Given the description of an element on the screen output the (x, y) to click on. 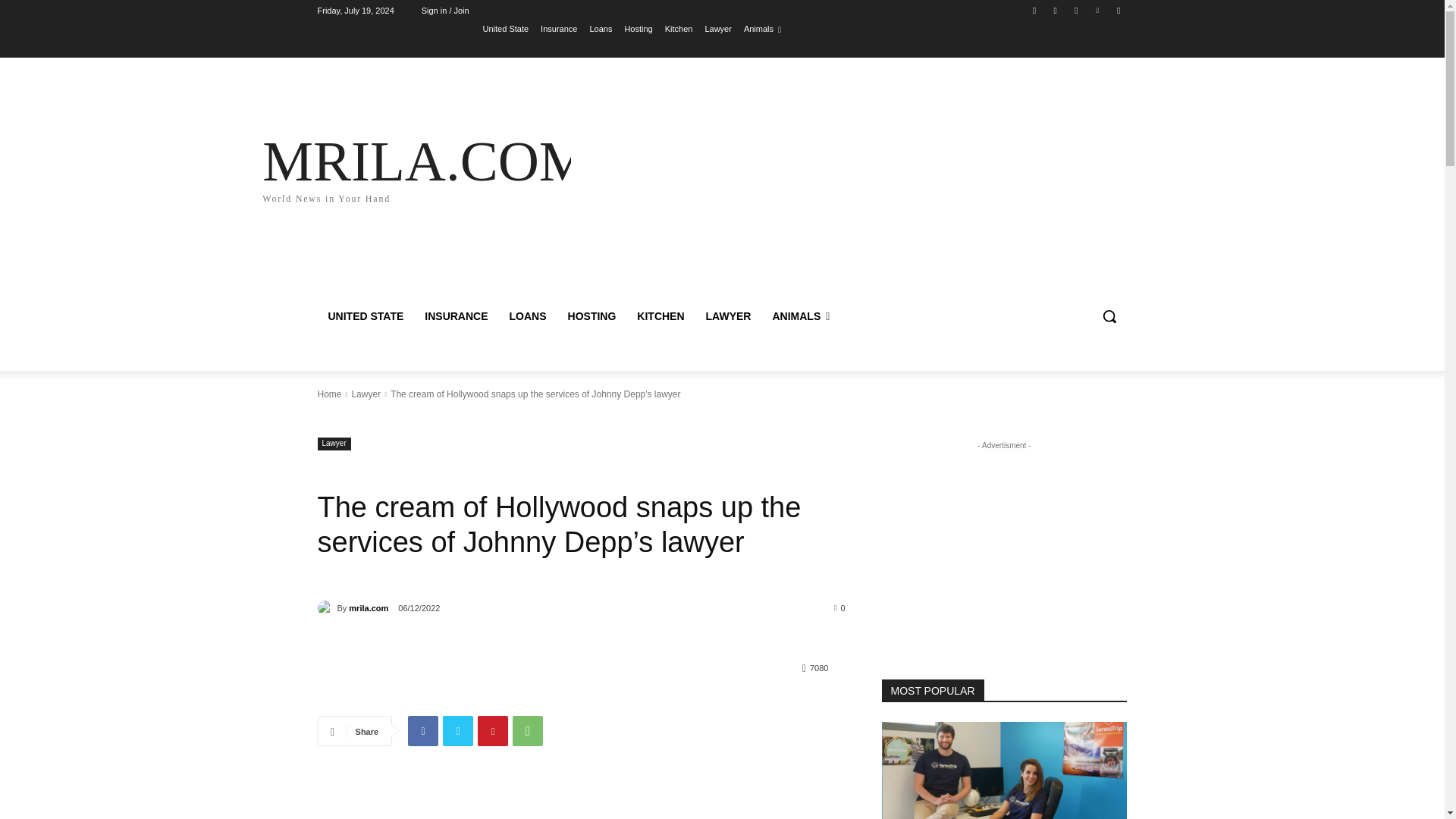
View all posts in Lawyer (365, 394)
UNITED STATE (365, 316)
Loans (600, 28)
KITCHEN (660, 316)
Insurance (558, 28)
LOANS (528, 316)
Youtube (1117, 9)
Hosting (638, 28)
LAWYER (728, 316)
Twitter (457, 730)
Kitchen (679, 28)
Advertisement (854, 184)
Vimeo (1097, 9)
WhatsApp (527, 730)
Twitter (1075, 9)
